Given the description of an element on the screen output the (x, y) to click on. 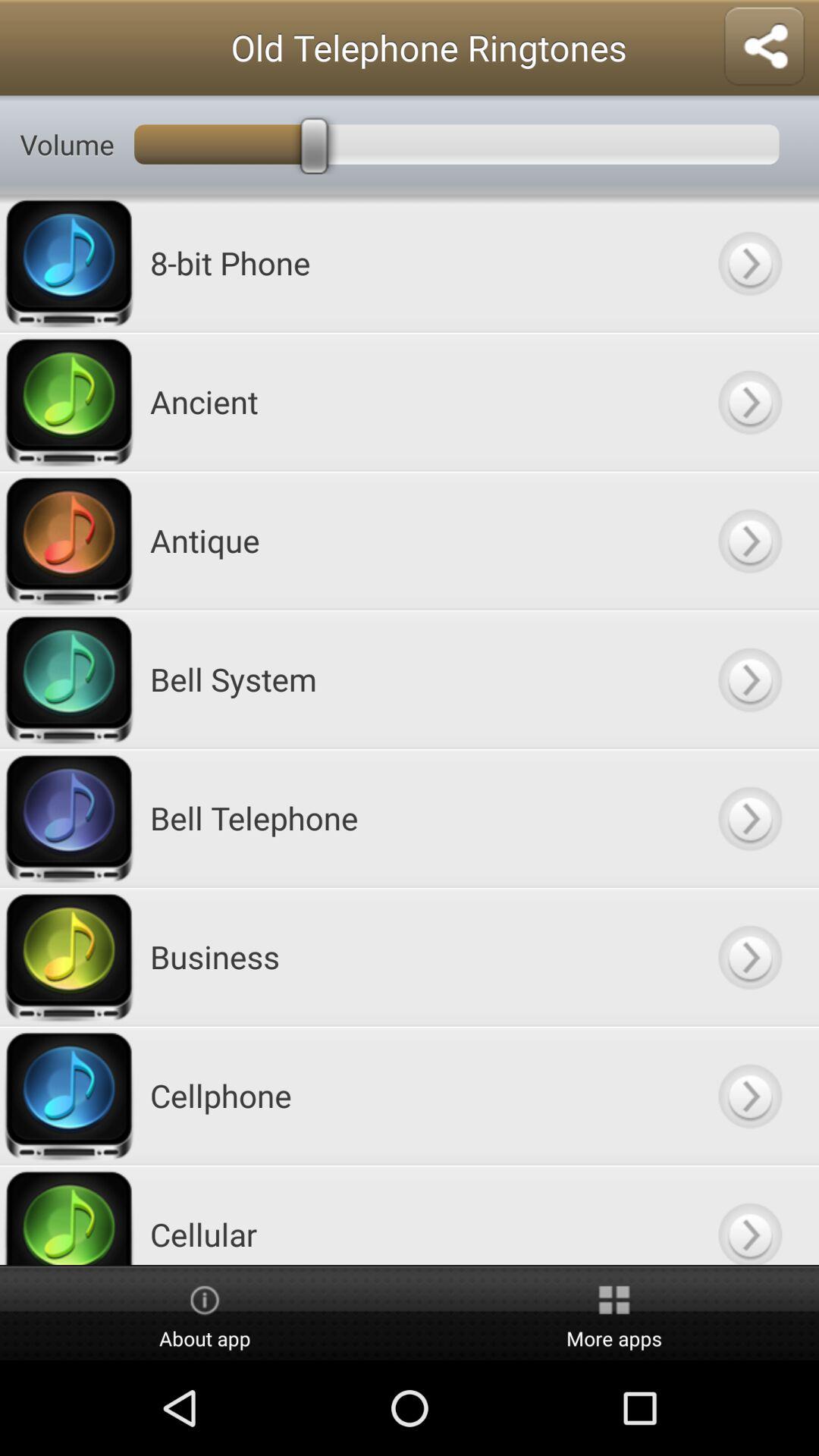
play tone (749, 262)
